Given the description of an element on the screen output the (x, y) to click on. 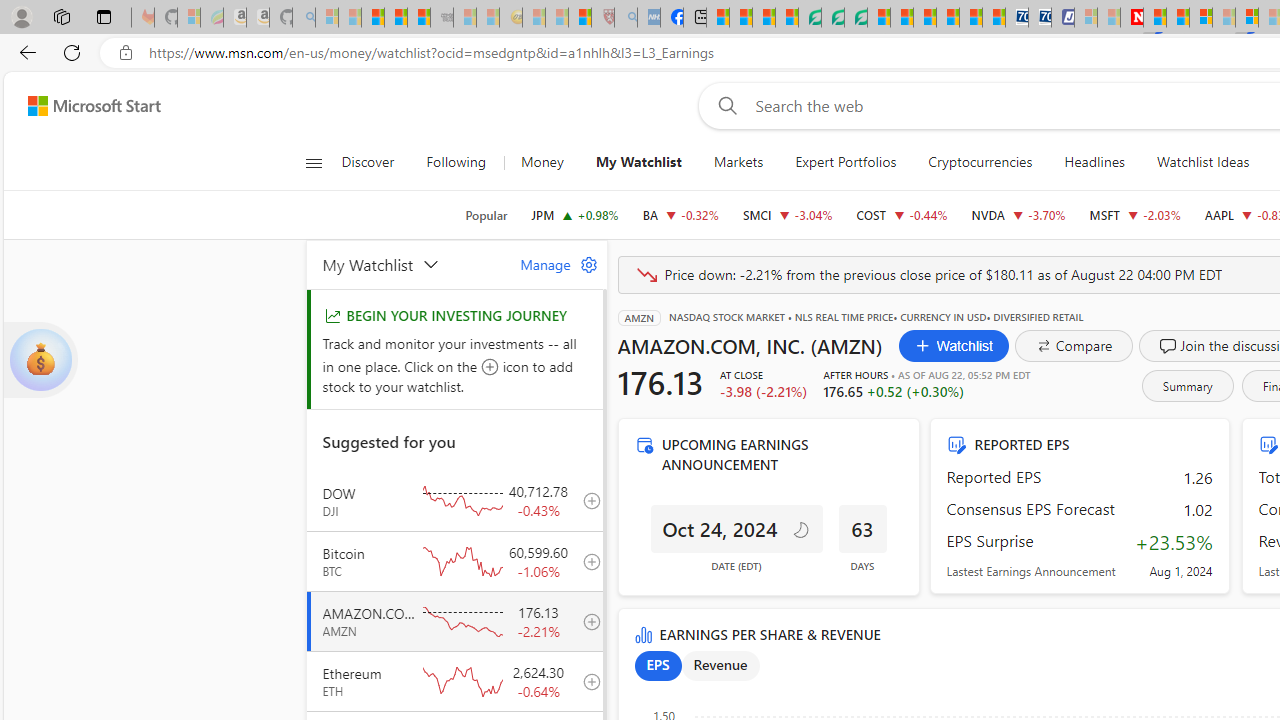
add to your watchlist (586, 681)
Combat Siege (442, 17)
Latest Politics News & Archive | Newsweek.com (1132, 17)
Class: button-glyph (313, 162)
Summary (1186, 385)
Trusted Community Engagement and Contributions | Guidelines (1155, 17)
Terms of Use Agreement (832, 17)
Markets (738, 162)
Open navigation menu (313, 162)
Cheap Car Rentals - Save70.com (1016, 17)
NVDA NVIDIA CORPORATION decrease 123.74 -4.76 -3.70% (1017, 214)
